Given the description of an element on the screen output the (x, y) to click on. 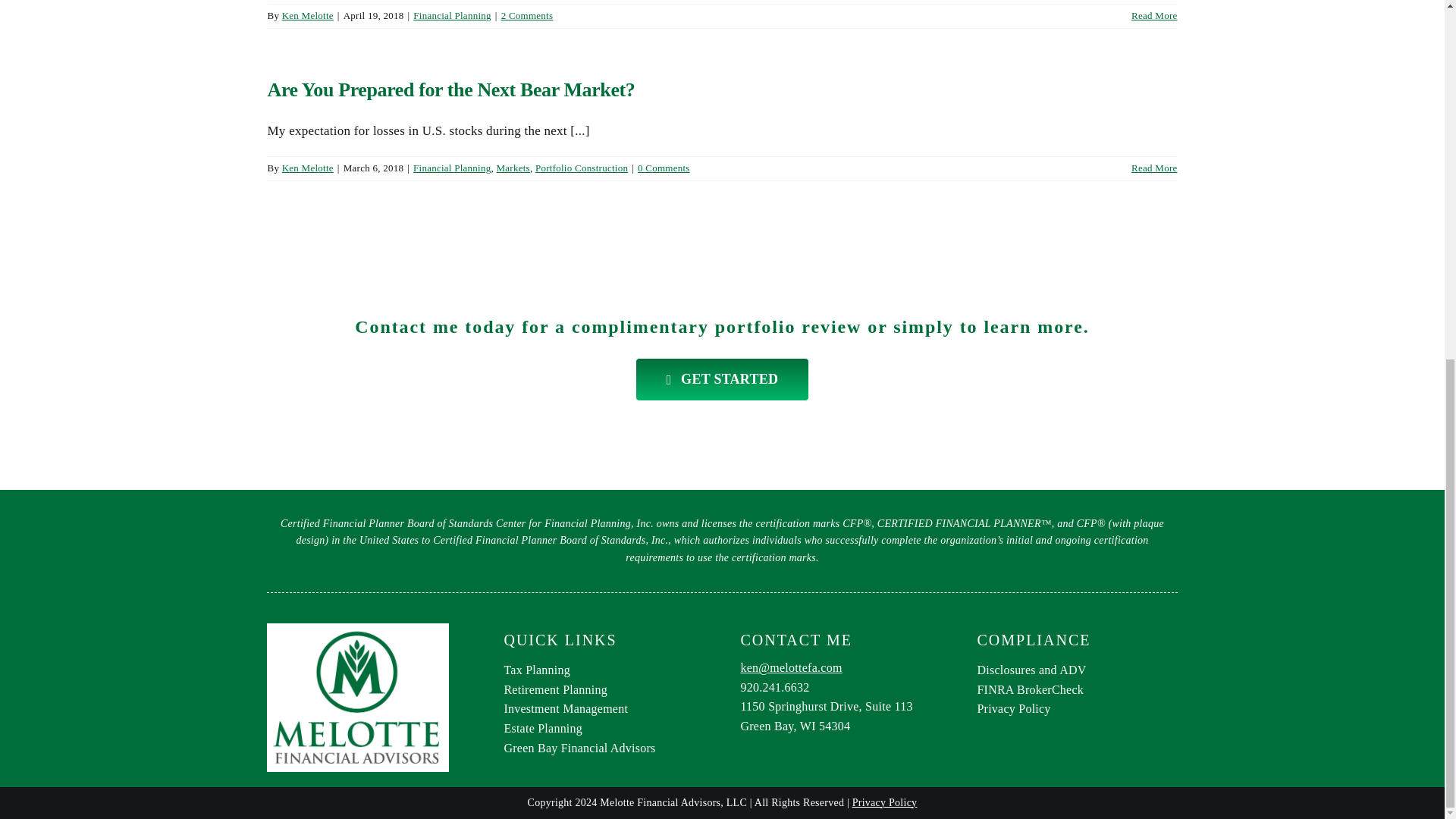
Logo Stacked 2024 (357, 697)
Posts by Ken Melotte (307, 15)
Posts by Ken Melotte (307, 167)
